Given the description of an element on the screen output the (x, y) to click on. 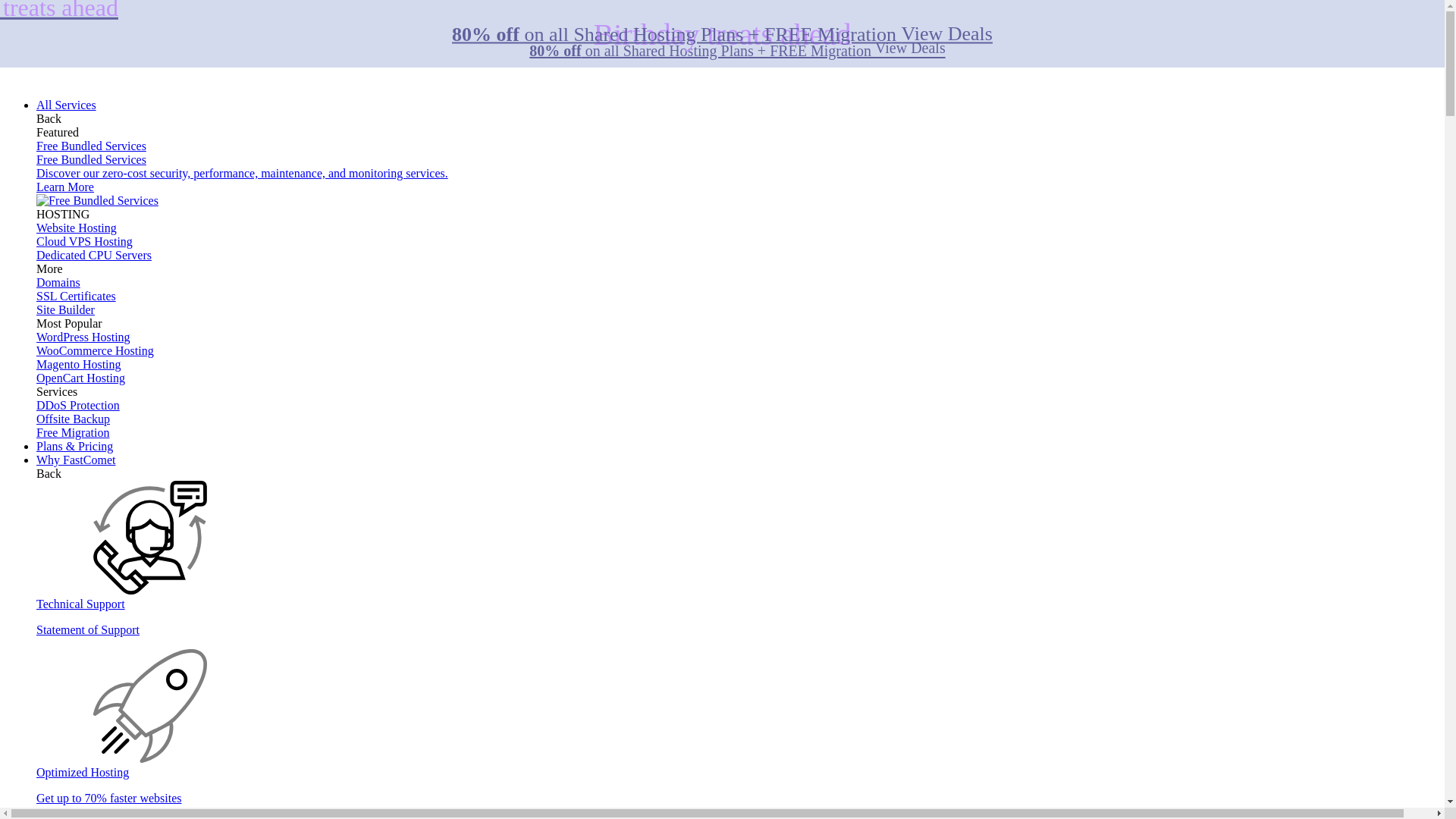
All Services (66, 104)
fastcomet-logo-white (64, 78)
Why FastComet (75, 459)
Back (48, 472)
Back (48, 118)
fastcomet-logo-white (64, 64)
